Given the description of an element on the screen output the (x, y) to click on. 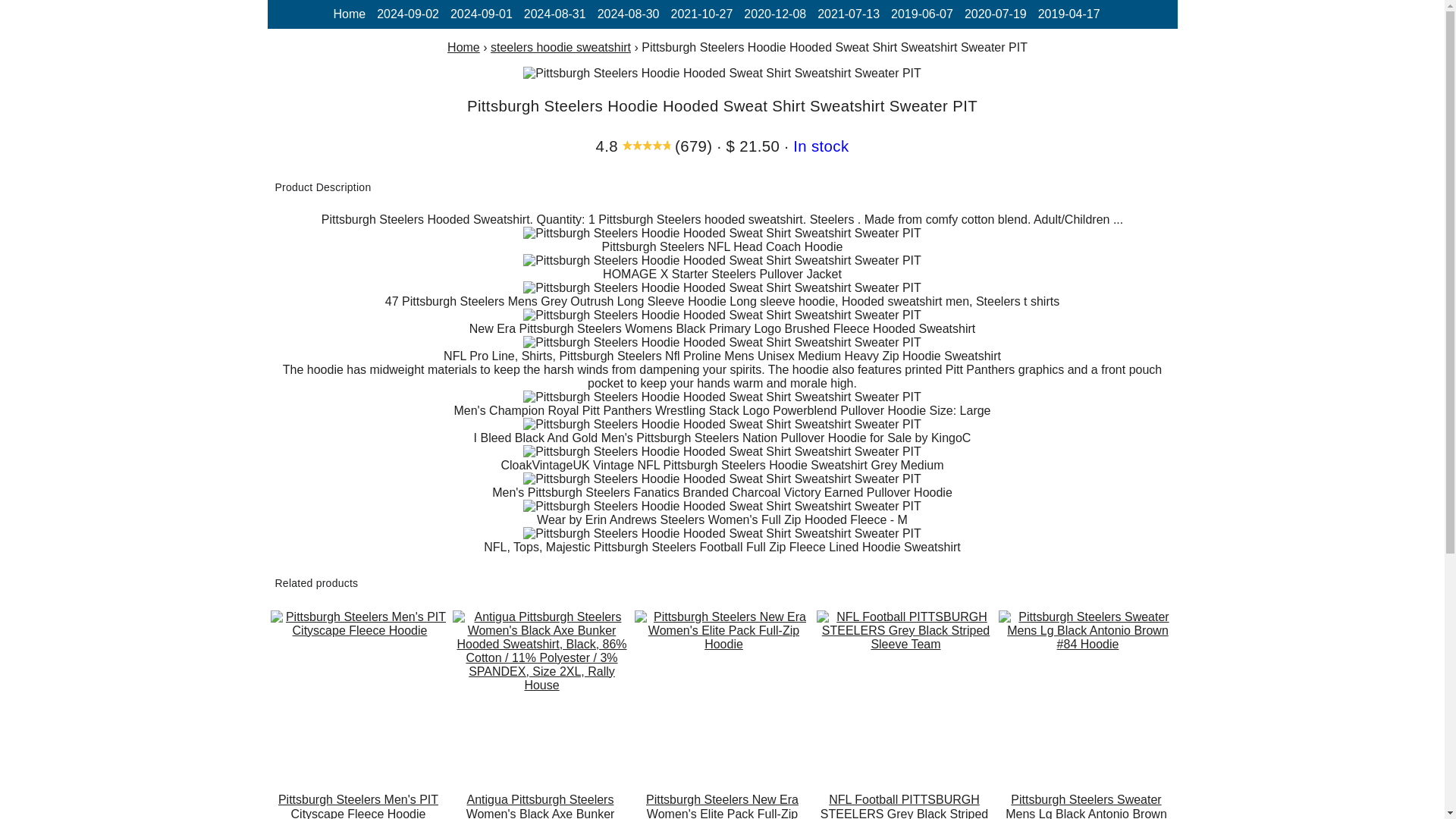
2020-12-08 (775, 13)
2024-09-01 (480, 13)
steelers hoodie sweatshirt (560, 47)
Home (463, 47)
Pittsburgh Steelers Men's PIT Cityscape Fleece Hoodie (357, 805)
Pittsburgh Steelers Men's PIT Cityscape Fleece Hoodie (357, 805)
2024-08-31 (555, 13)
2024-09-02 (408, 13)
2021-10-27 (700, 13)
